Given the description of an element on the screen output the (x, y) to click on. 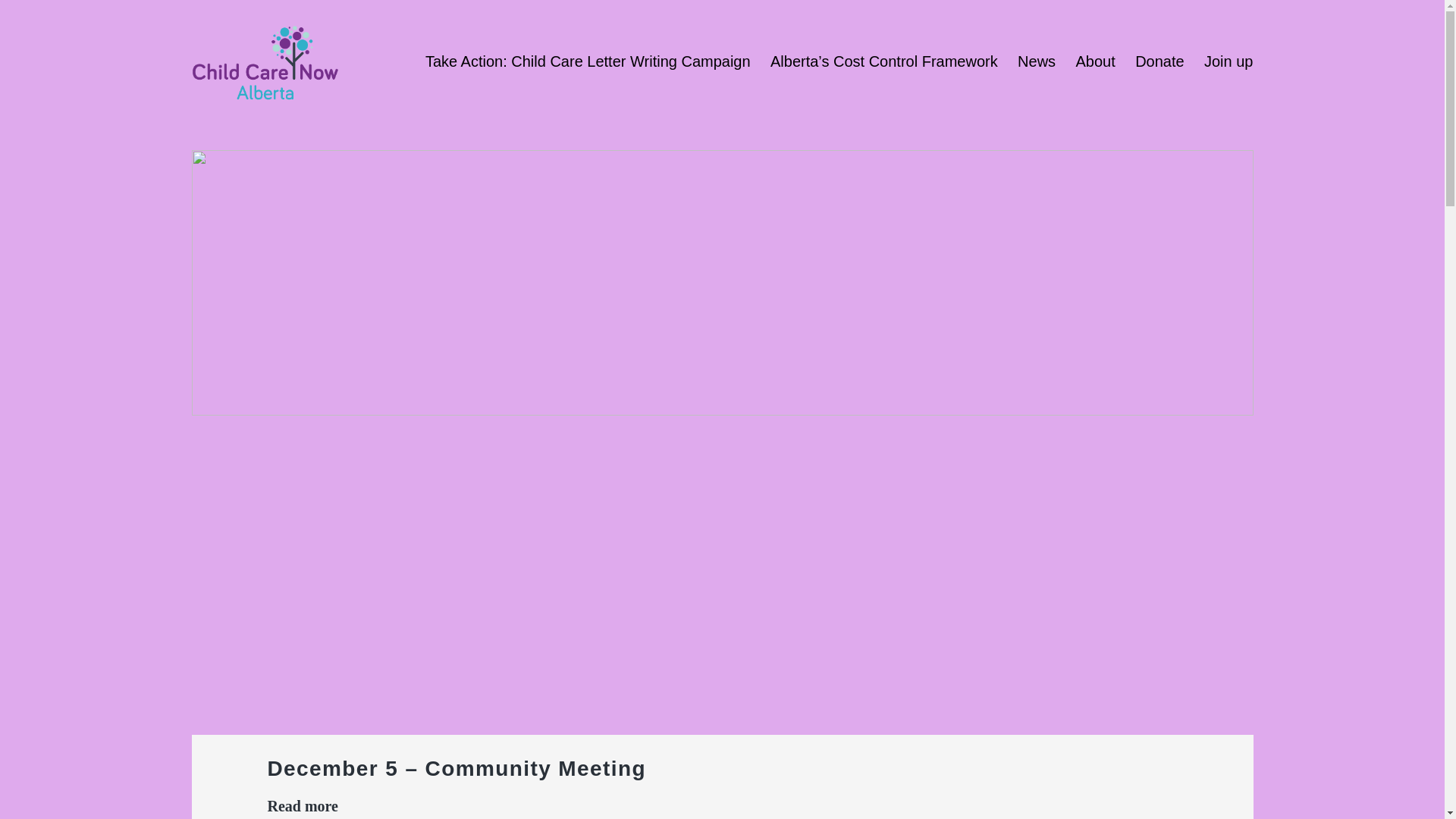
Join up Element type: text (1228, 60)
About Element type: text (1095, 60)
Take Action: Child Care Letter Writing Campaign Element type: text (587, 60)
Donate Element type: text (1159, 60)
News Element type: text (1036, 60)
